Given the description of an element on the screen output the (x, y) to click on. 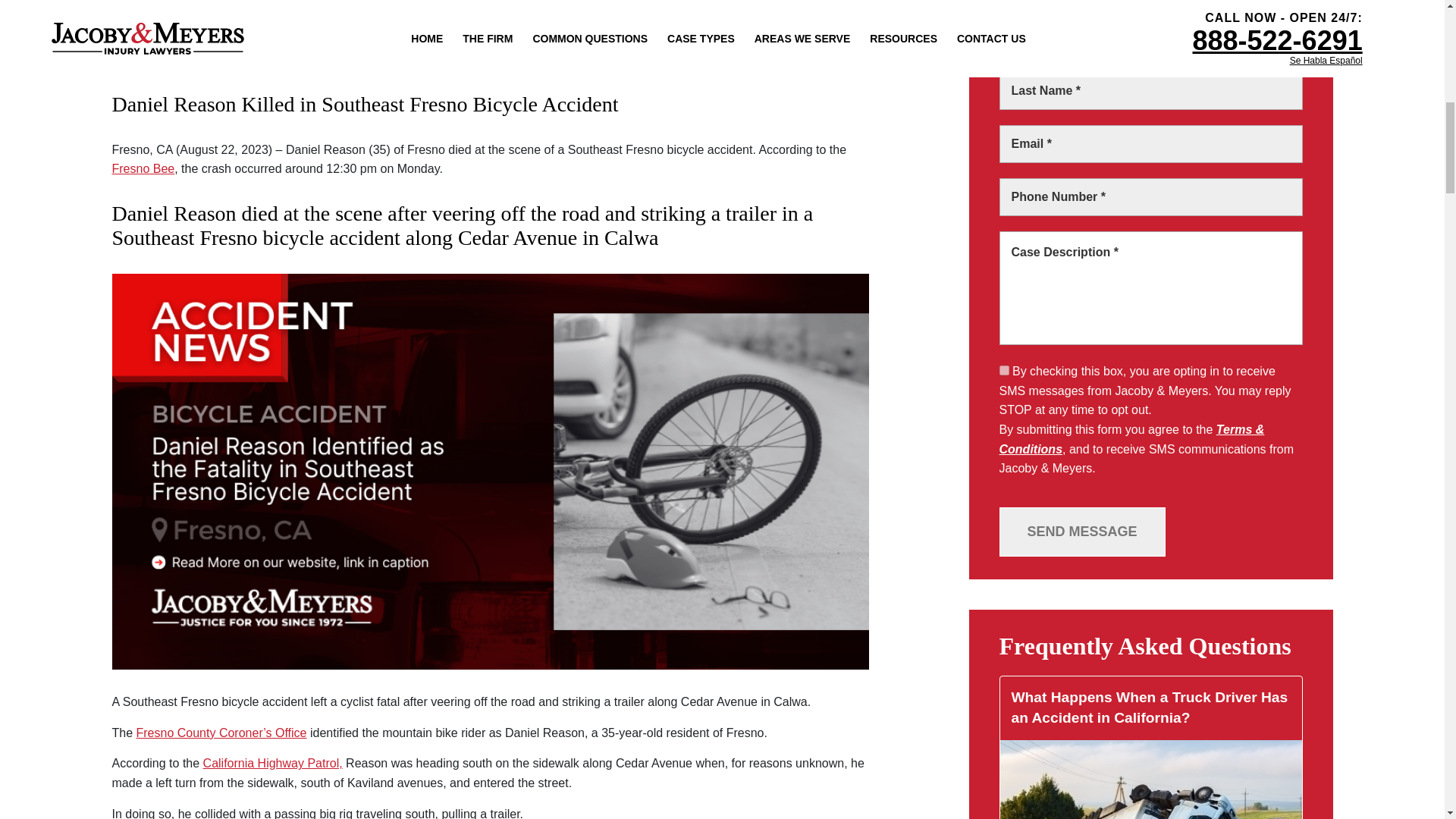
Send Message (1082, 531)
